Given the description of an element on the screen output the (x, y) to click on. 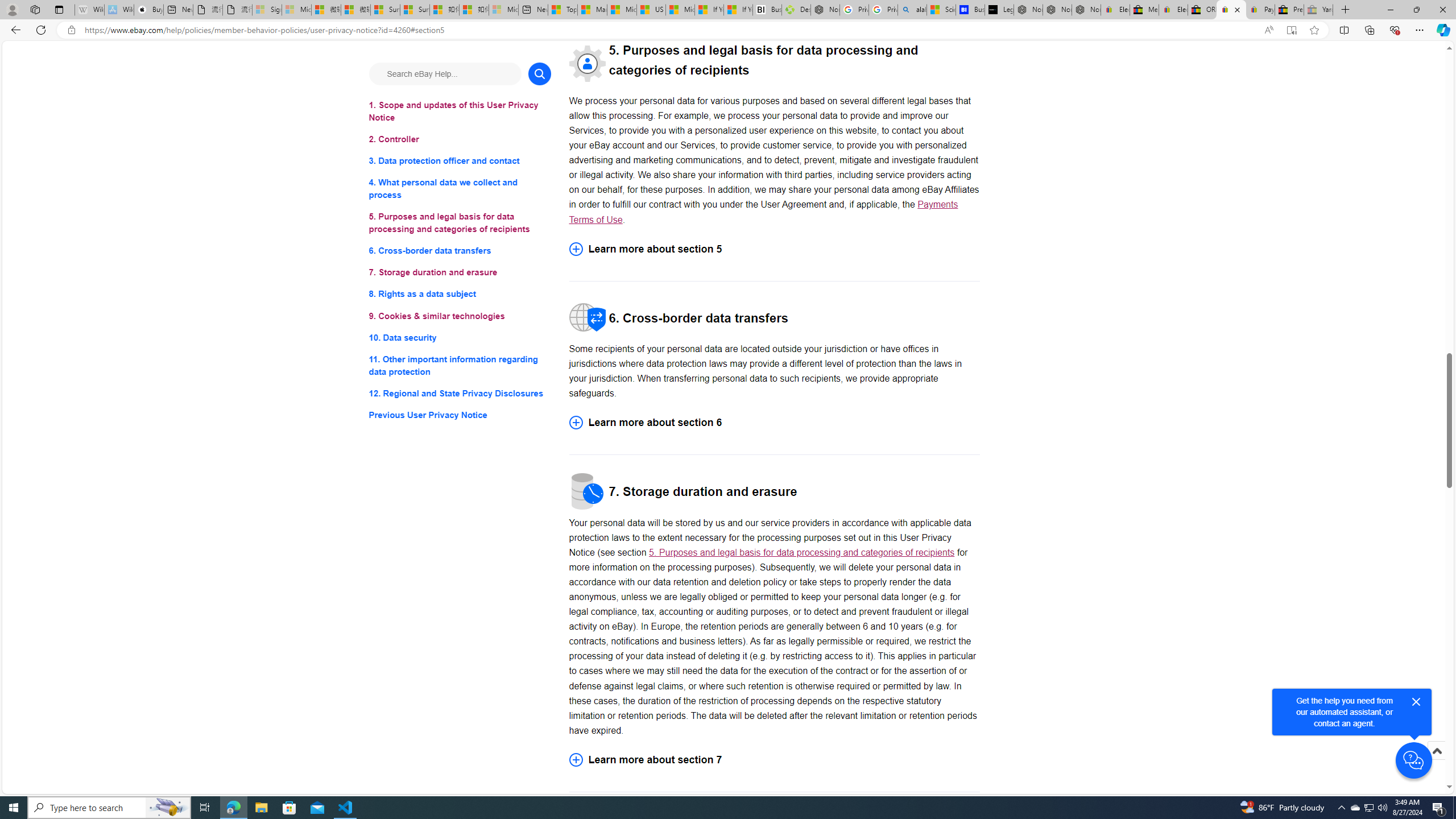
3. Data protection officer and contact (459, 160)
12. Regional and State Privacy Disclosures (459, 392)
8. Rights as a data subject (459, 293)
4. What personal data we collect and process (459, 189)
12. Regional and State Privacy Disclosures (459, 392)
